Given the description of an element on the screen output the (x, y) to click on. 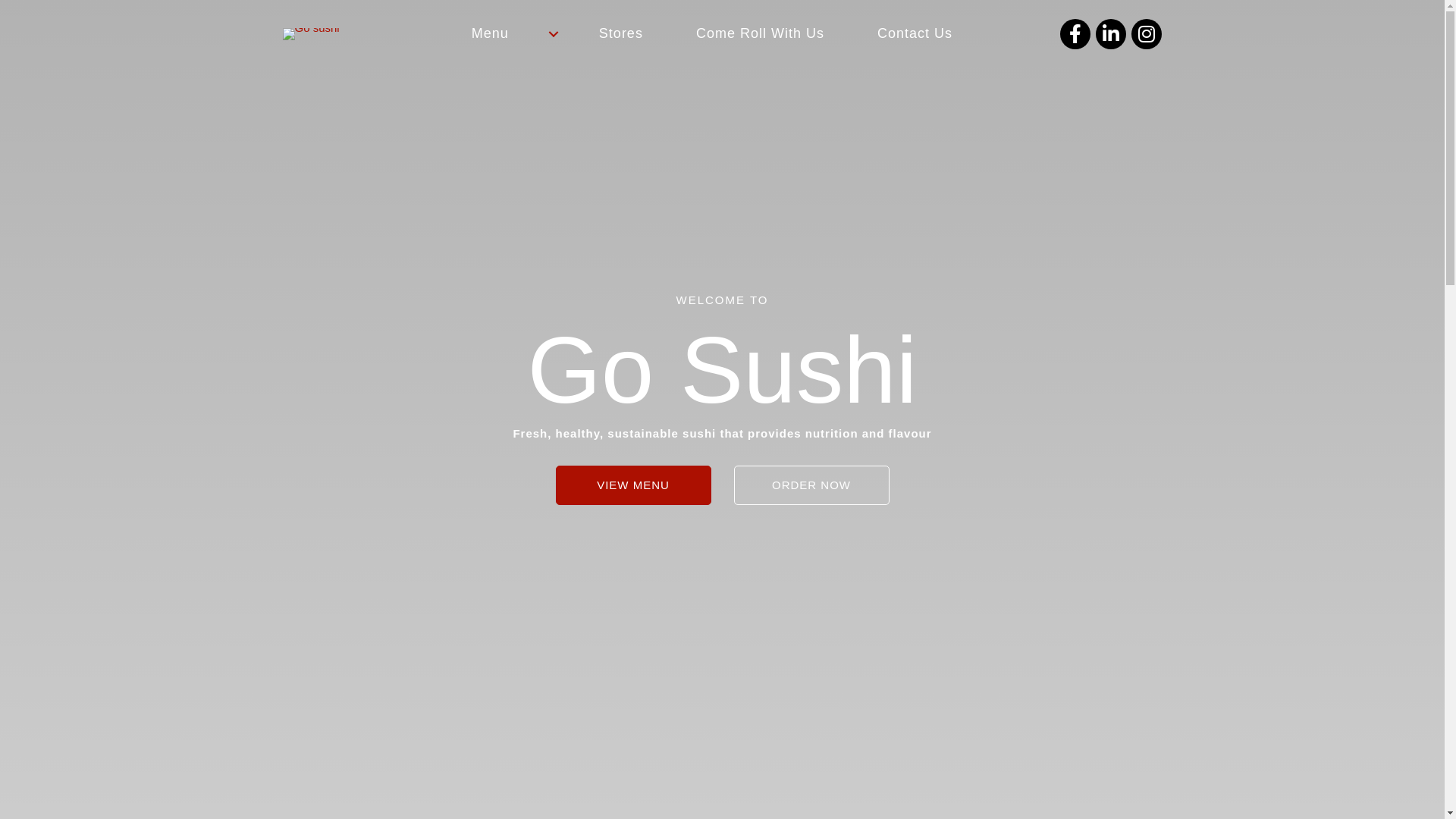
Menu Element type: text (508, 33)
Skip to main content Element type: text (0, 0)
ORDER NOW Element type: text (811, 484)
Come Roll With Us Element type: text (759, 33)
Stores Element type: text (620, 33)
Go Sushi Logo Element type: hover (310, 34)
Contact Us Element type: text (914, 33)
VIEW MENU Element type: text (632, 484)
